Given the description of an element on the screen output the (x, y) to click on. 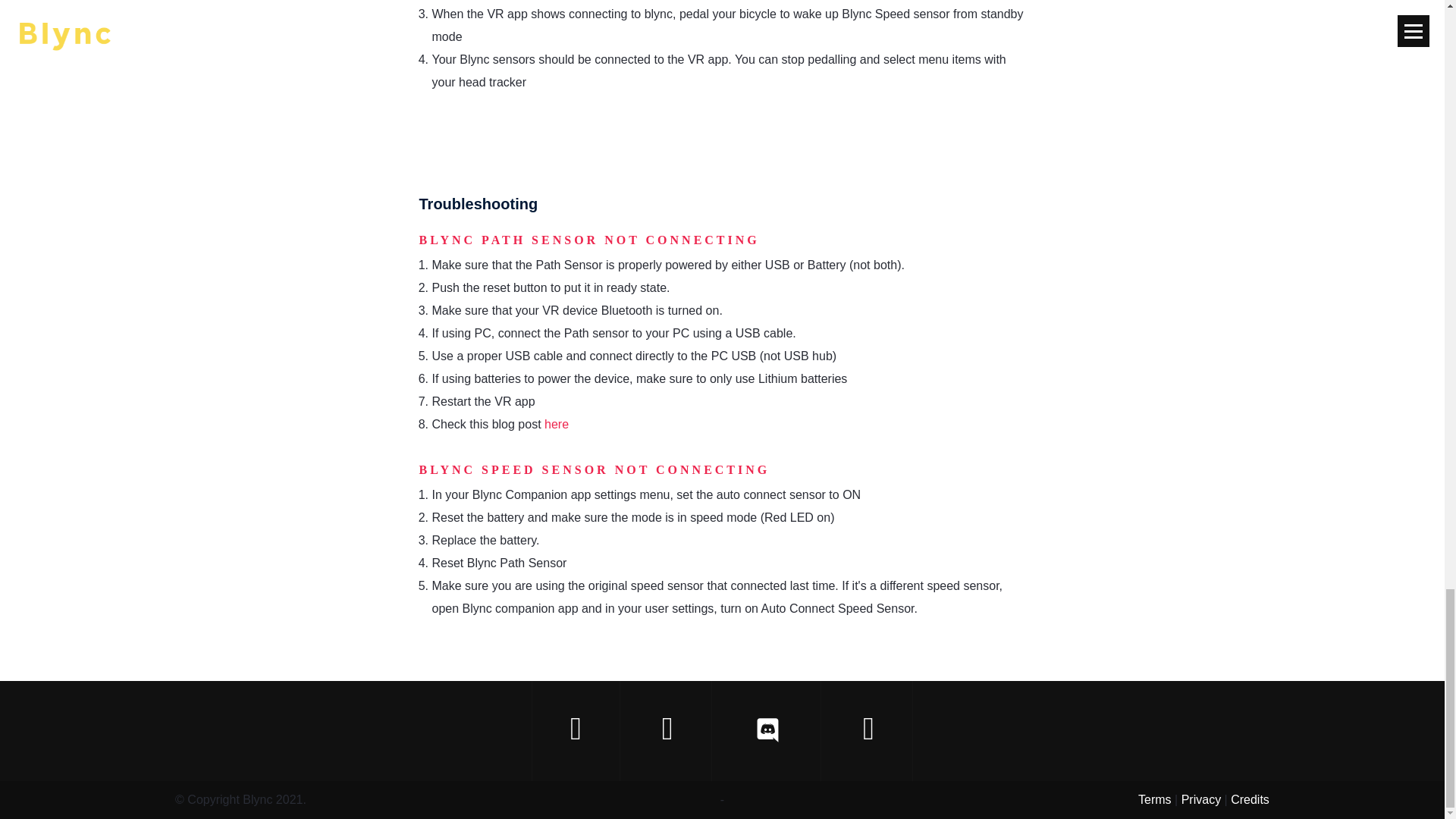
Privacy (1200, 799)
here (556, 423)
Terms (1155, 799)
Credits (1249, 799)
